Given the description of an element on the screen output the (x, y) to click on. 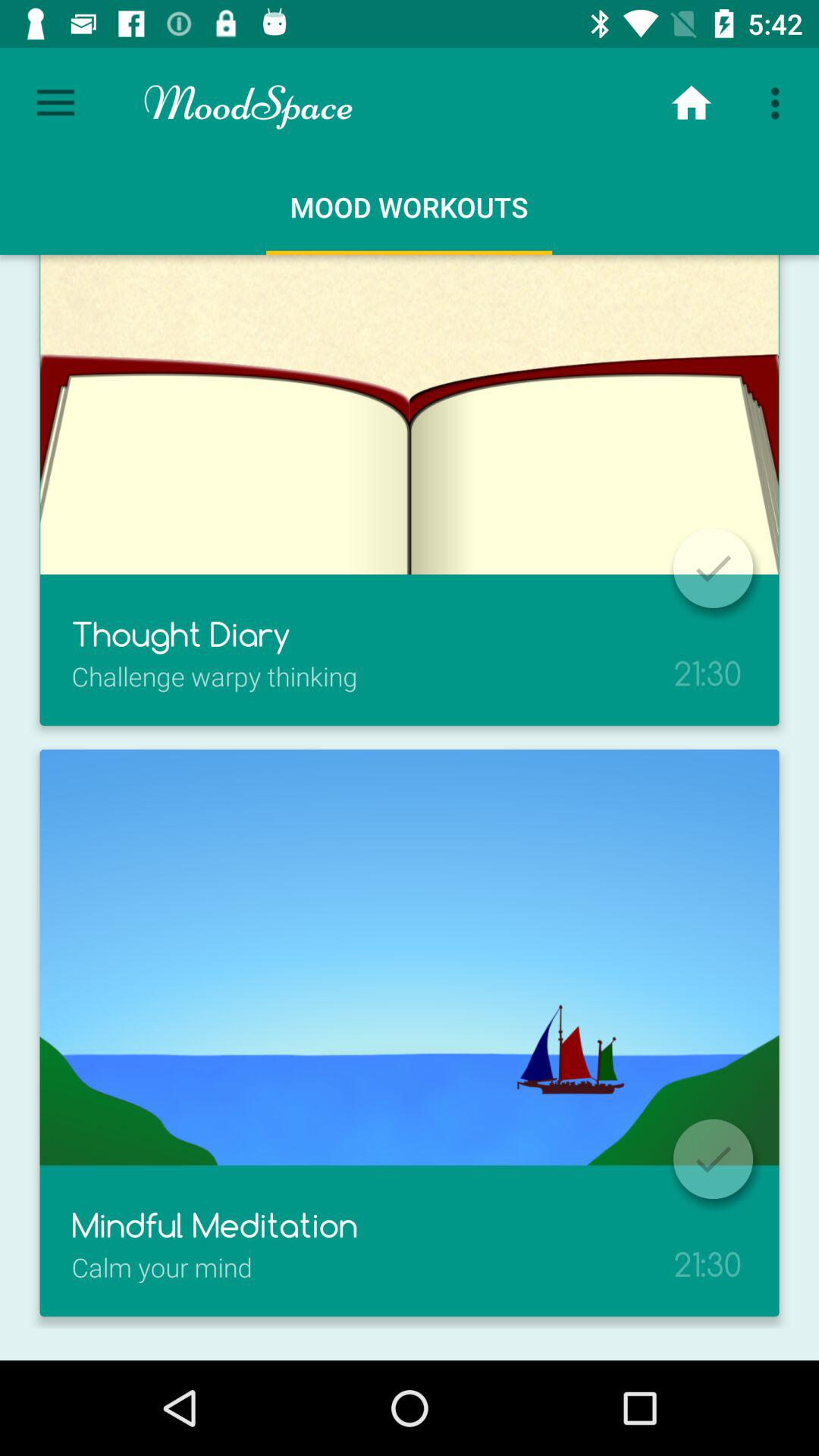
press the item next to moodspace (691, 103)
